Given the description of an element on the screen output the (x, y) to click on. 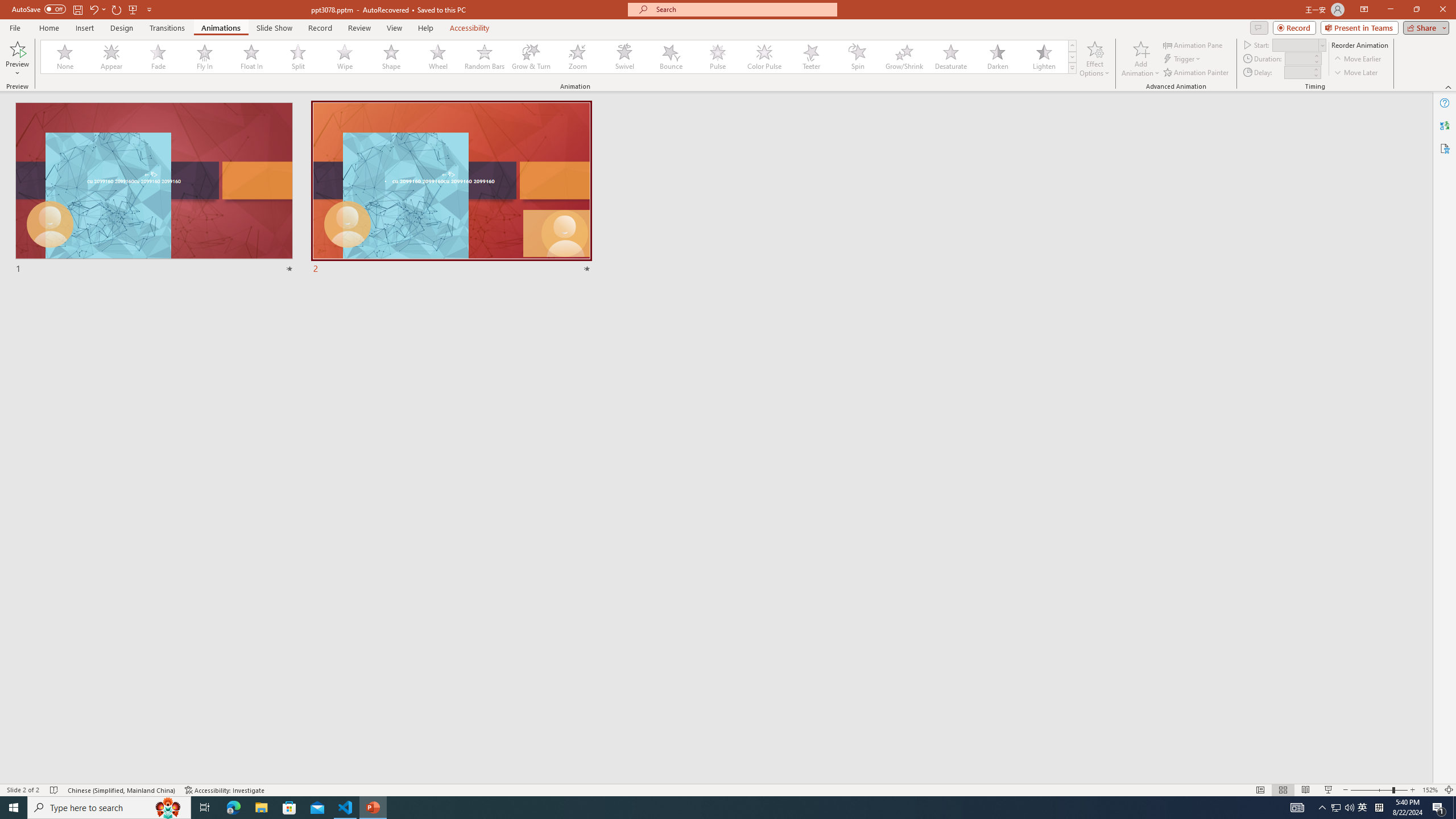
Random Bars (484, 56)
Effect Options (1094, 58)
Animation Pane (1193, 44)
Wipe (344, 56)
Animation Styles (1071, 67)
Teeter (810, 56)
